Given the description of an element on the screen output the (x, y) to click on. 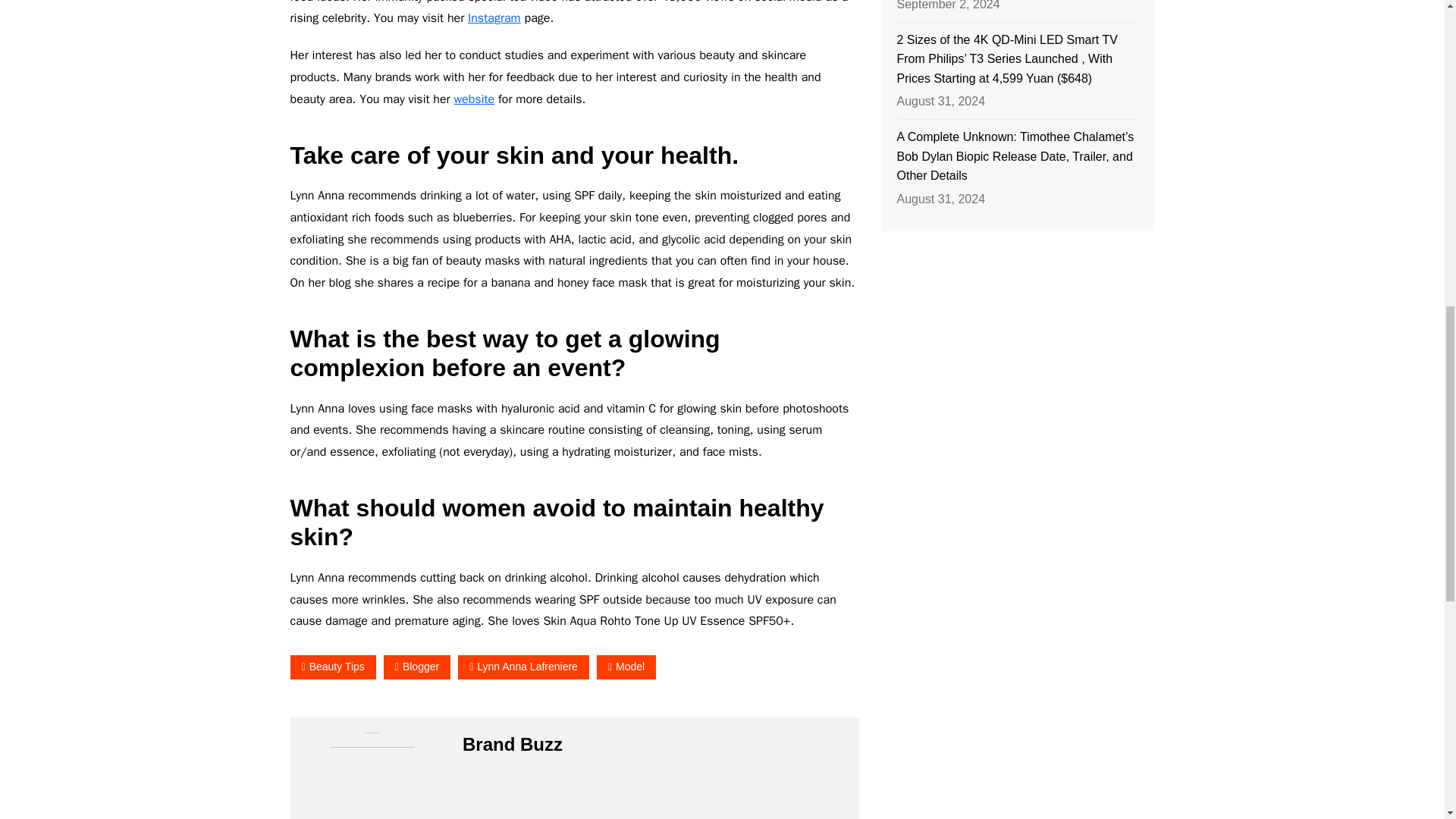
Lynn Anna Lafreniere (523, 666)
Instagram (494, 17)
Blogger (416, 666)
Model (626, 666)
website (474, 99)
Beauty Tips (332, 666)
